Given the description of an element on the screen output the (x, y) to click on. 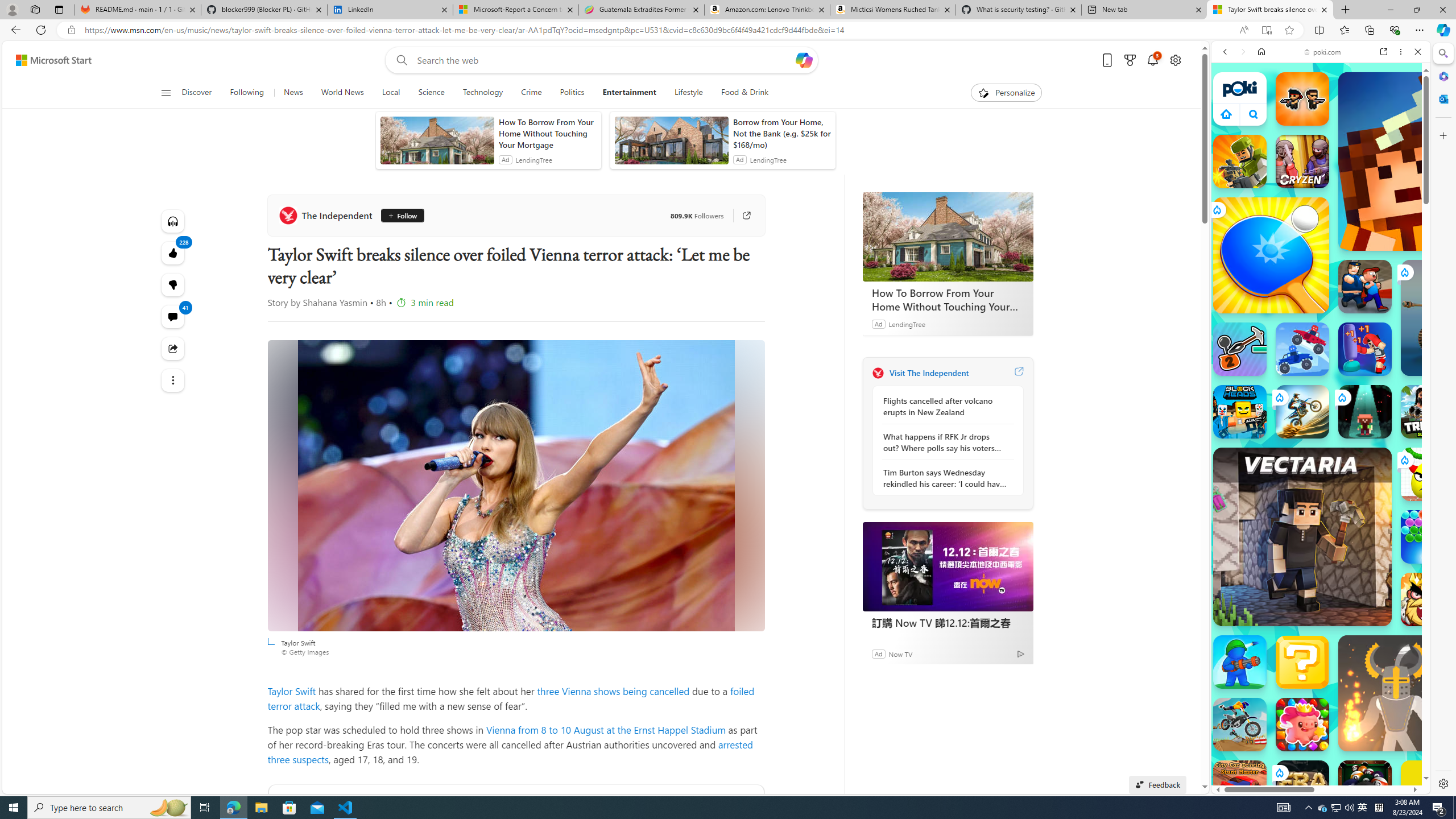
Go to publisher's site (740, 215)
The Independent (877, 372)
Like a King (1427, 599)
Cryzen.io (1302, 161)
Taylor Swift (516, 485)
Stickman Climb 2 (1239, 348)
Show More Shooting Games (1390, 296)
Crazy Bikes (1239, 724)
228 Like (172, 252)
arrested three suspects (510, 751)
